Given the description of an element on the screen output the (x, y) to click on. 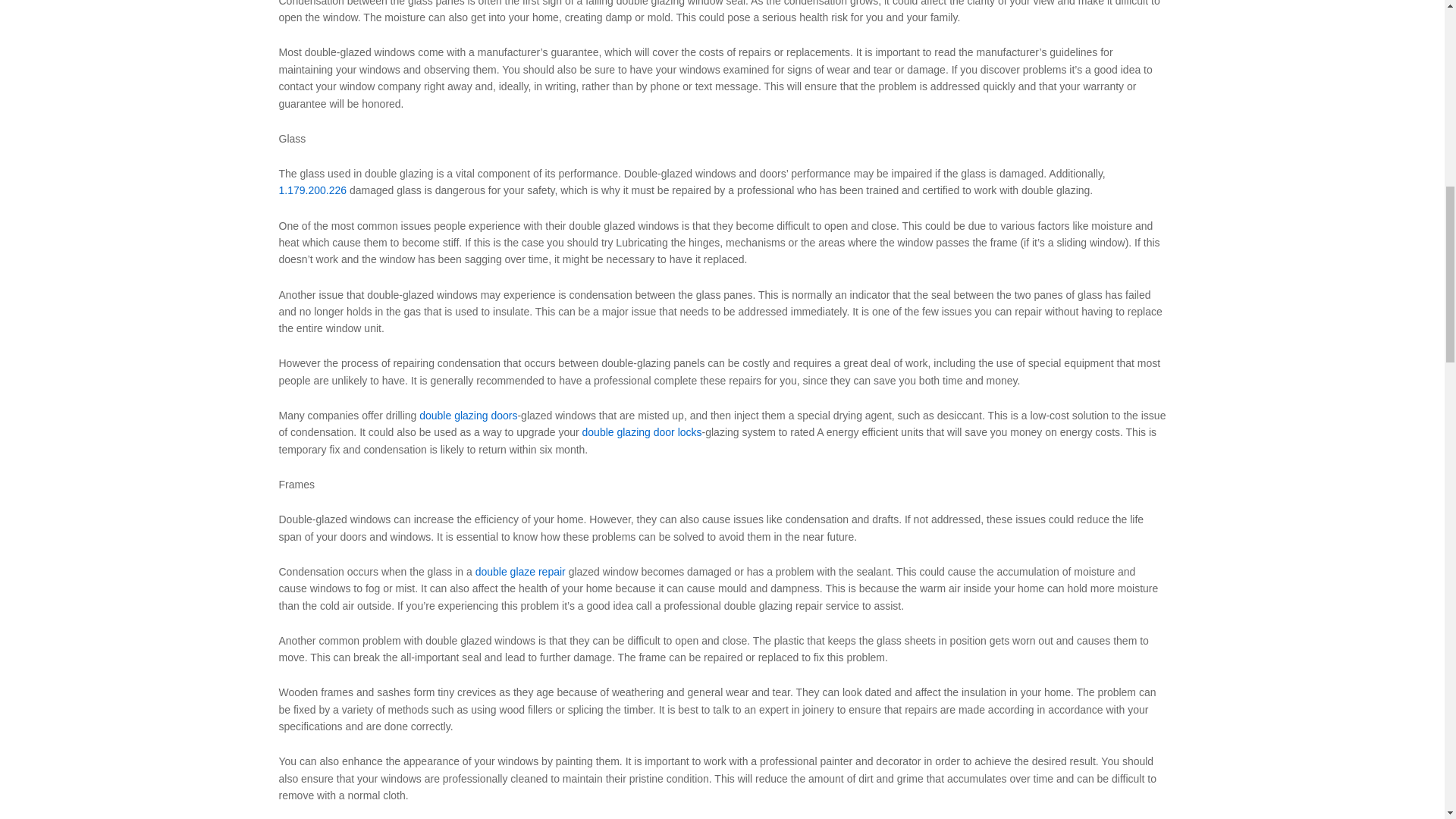
double glaze repair (521, 571)
1.179.200.226 (313, 190)
double glazing doors (467, 415)
double glazing door locks (641, 431)
